Given the description of an element on the screen output the (x, y) to click on. 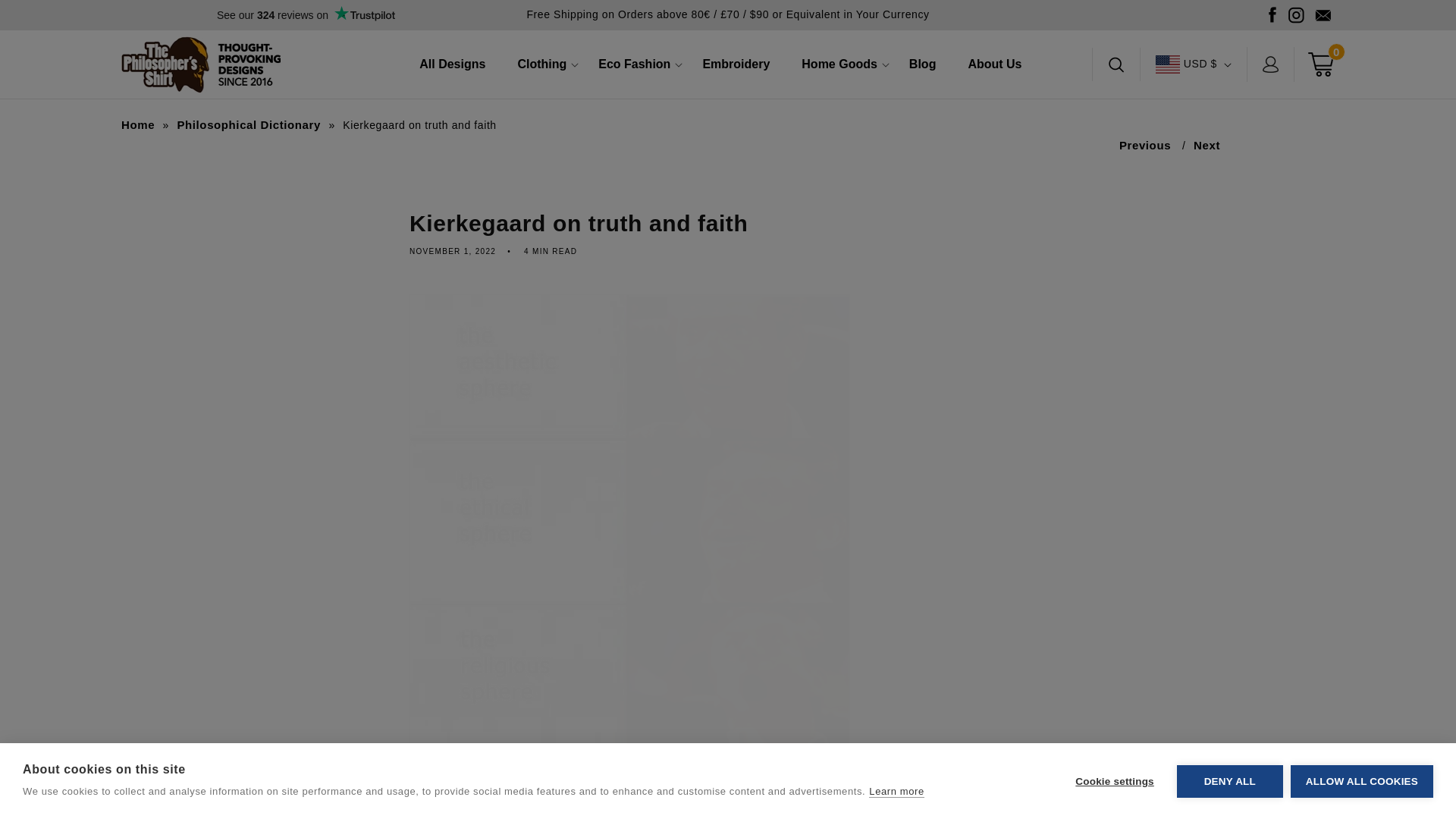
Home (137, 124)
All Designs (451, 64)
Customer reviews powered by Trustpilot (305, 14)
Instagram (1296, 14)
Skip to content (727, 232)
